Given the description of an element on the screen output the (x, y) to click on. 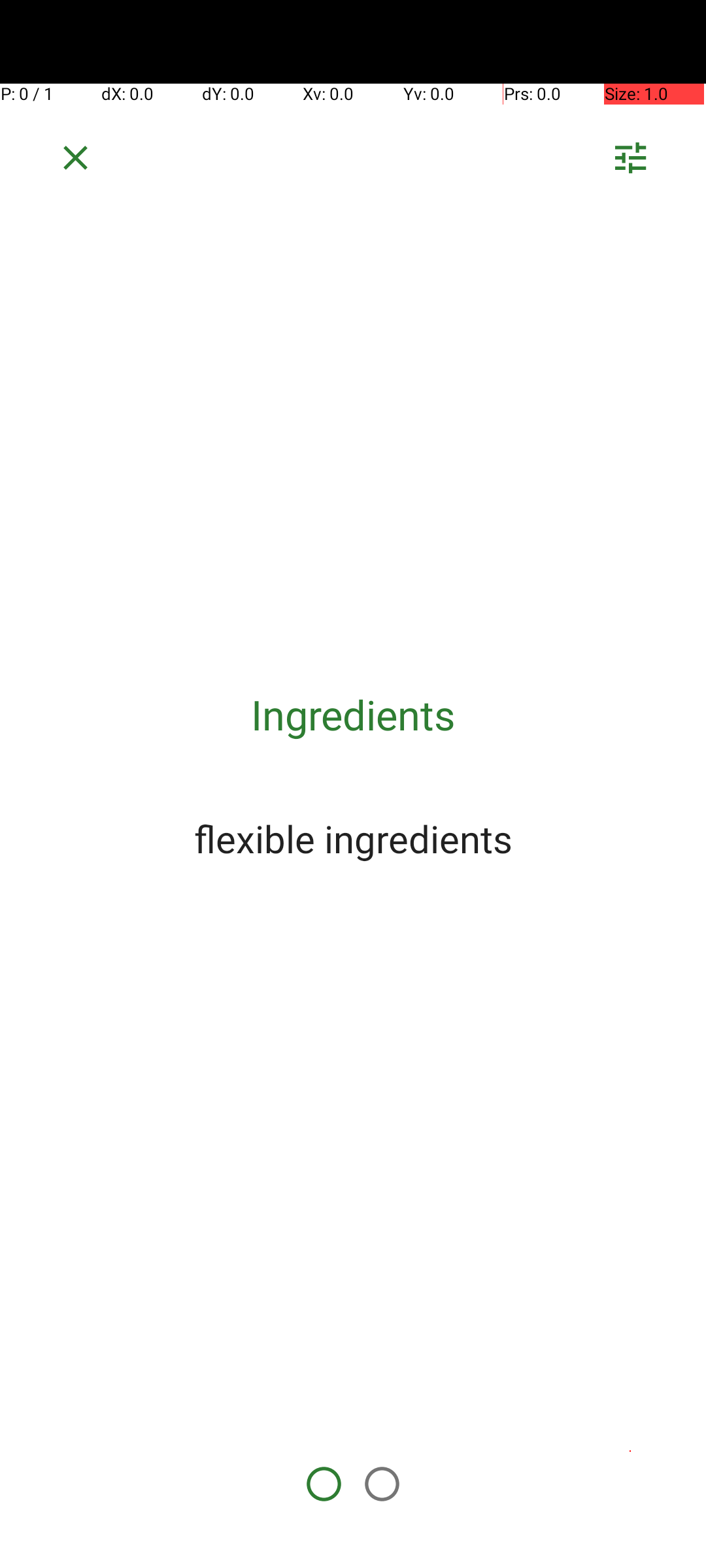
flexible ingredients Element type: android.widget.TextView (352, 838)
